Given the description of an element on the screen output the (x, y) to click on. 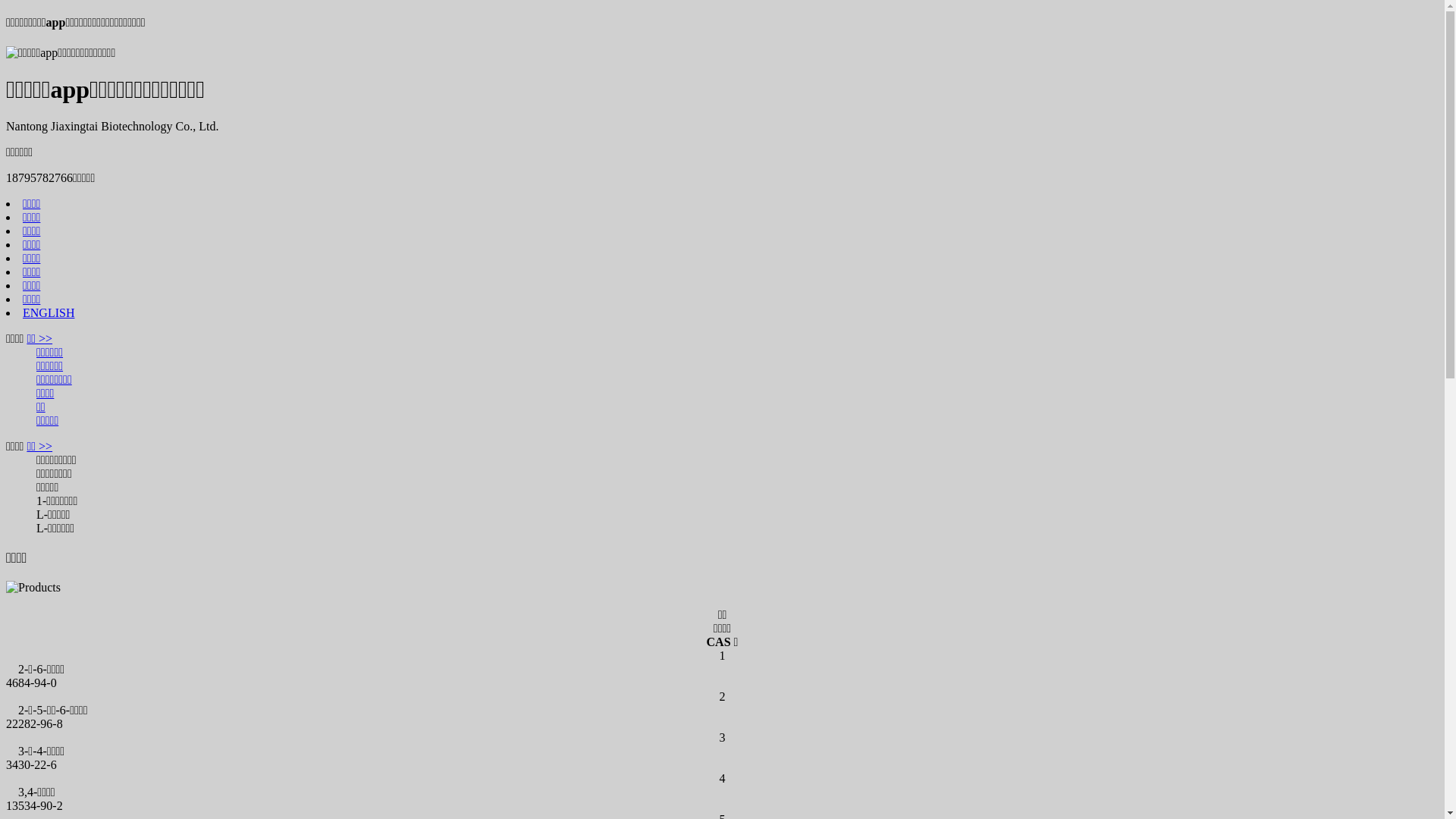
ENGLISH Element type: text (48, 312)
